Given the description of an element on the screen output the (x, y) to click on. 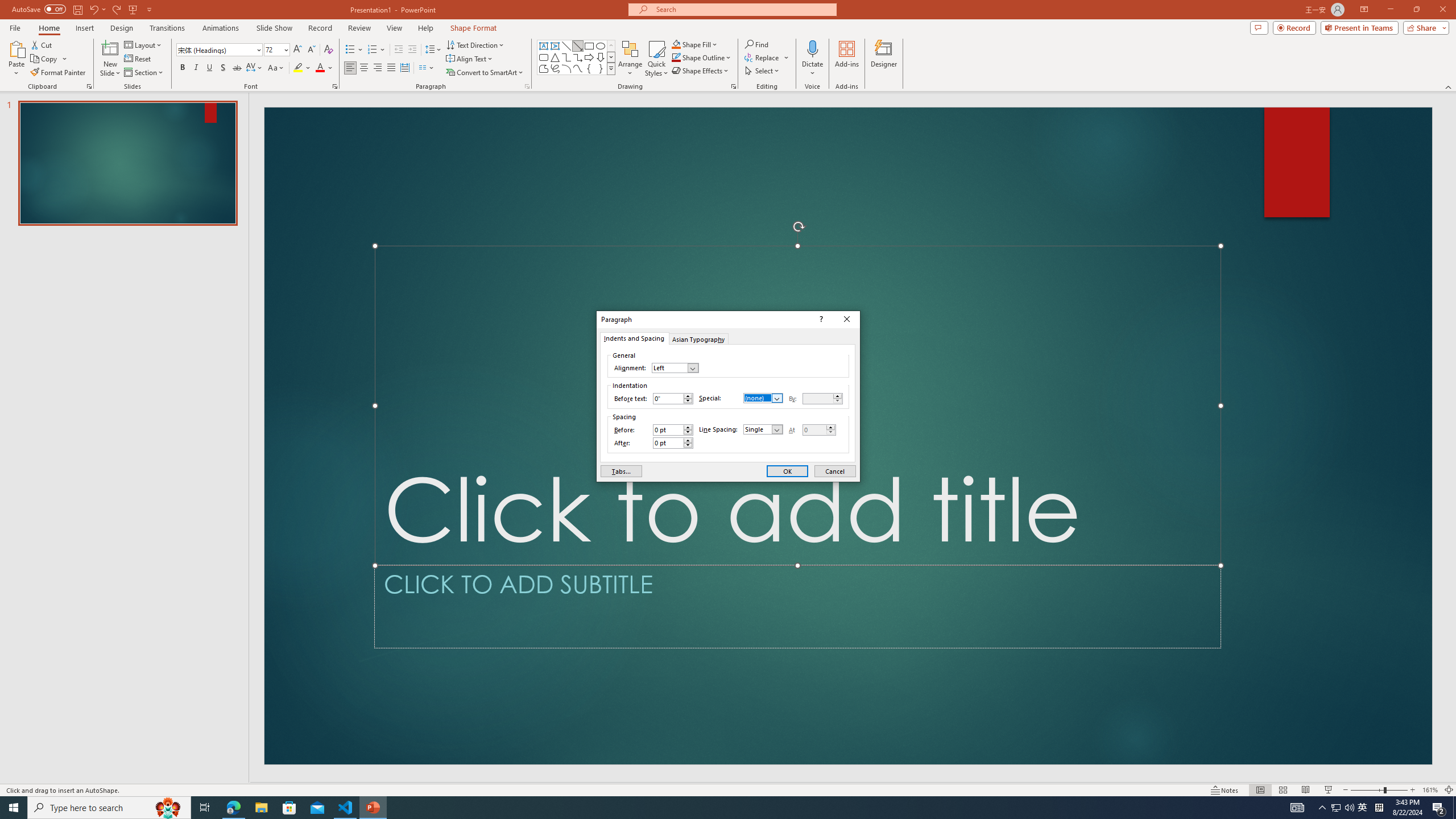
Left Brace (589, 68)
Cancel (834, 470)
Find... (756, 44)
Shape Format (473, 28)
Curve (577, 68)
Line Spacing (433, 49)
OK (786, 470)
By (817, 398)
